Given the description of an element on the screen output the (x, y) to click on. 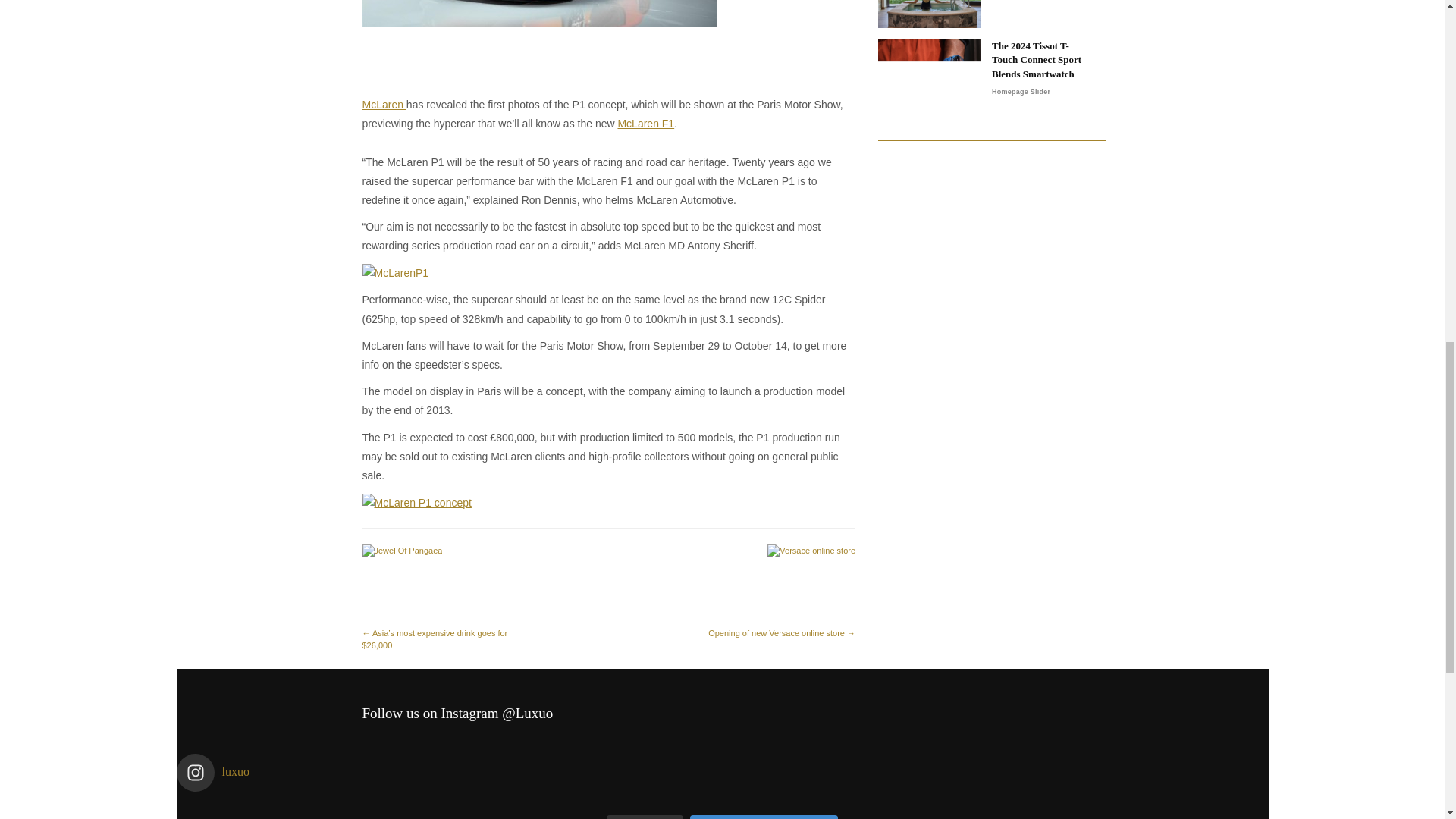
Next article : Opening of new Versace online store (779, 591)
McLarenP1 (395, 272)
McLaren P1 concept (416, 502)
McLaren P1 (539, 43)
